Given the description of an element on the screen output the (x, y) to click on. 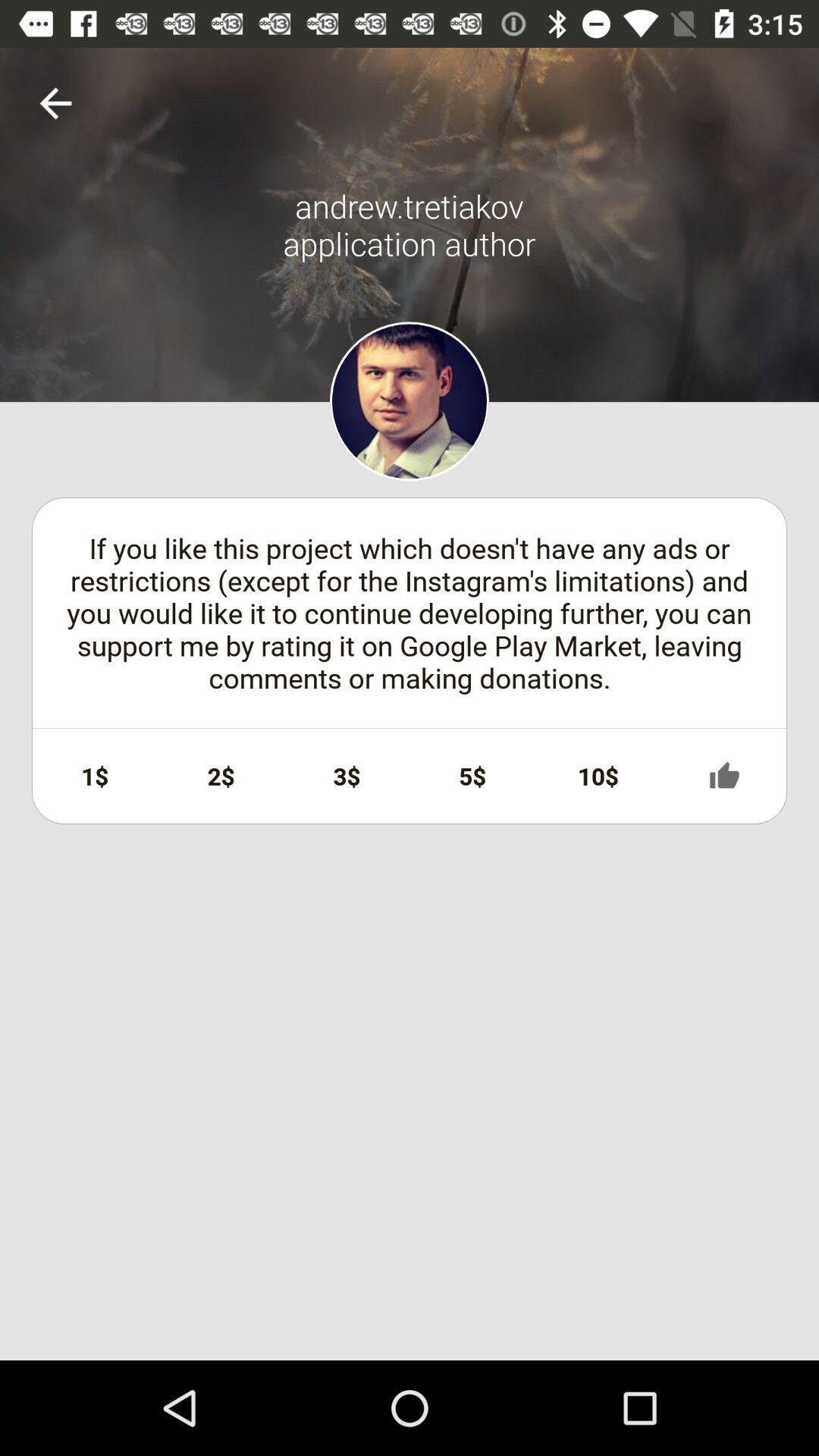
press item above if you like (55, 103)
